Given the description of an element on the screen output the (x, y) to click on. 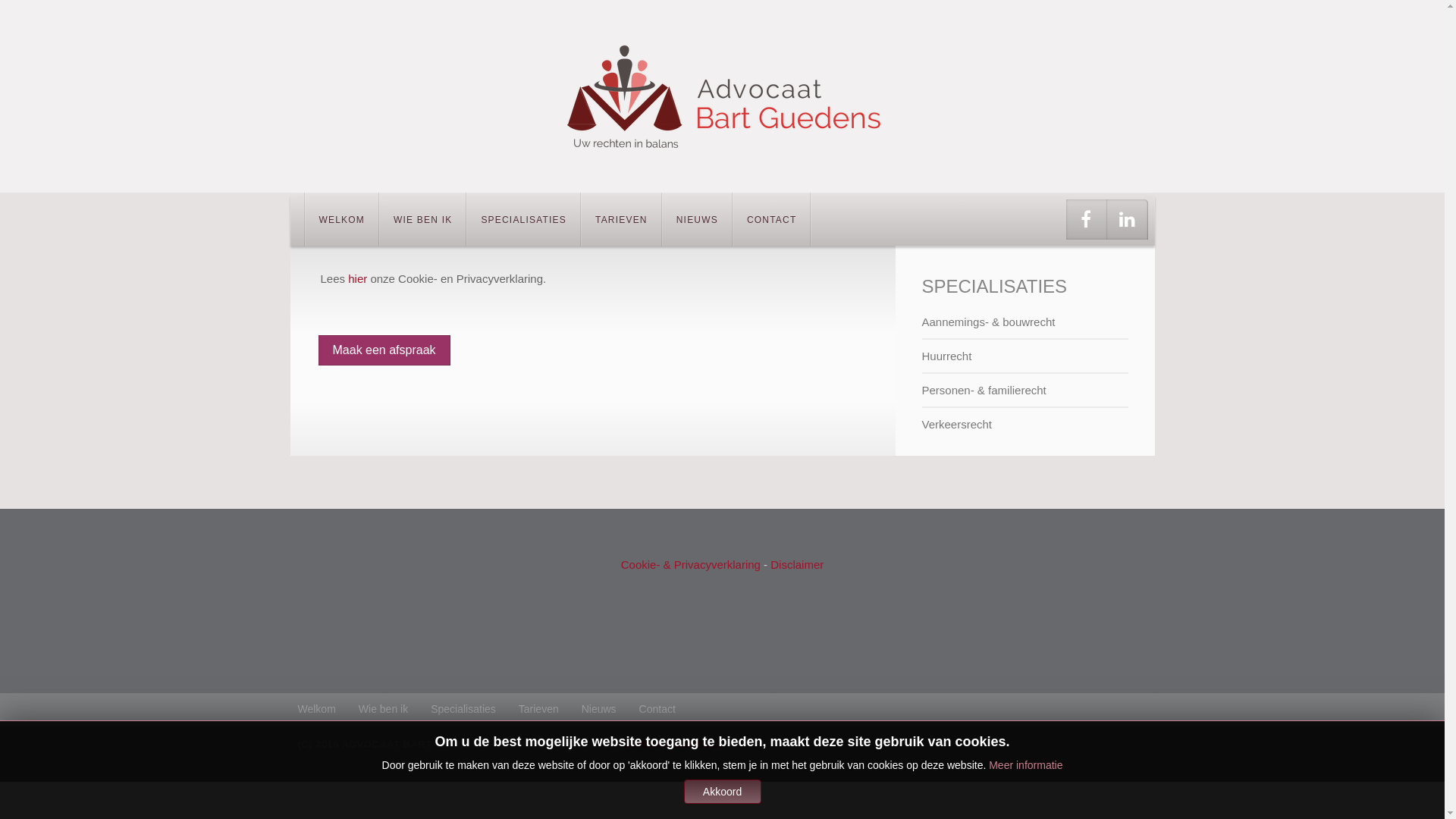
SPECIALISATIES Element type: text (523, 219)
Specialisaties Element type: text (474, 708)
Facebook Element type: hover (1086, 219)
WELKOM Element type: text (341, 219)
hier Element type: text (359, 278)
Welkom Element type: text (327, 708)
LinkedIn Element type: hover (1127, 219)
Aannemings- & bouwrecht Element type: text (1025, 321)
Cookie- & Privacyverklaring Element type: text (690, 564)
Wie ben ik Element type: text (394, 708)
NIEUWS Element type: text (696, 219)
Meer informatie Element type: text (1025, 765)
Nieuws Element type: text (610, 708)
Huurrecht Element type: text (1025, 355)
Verkeersrecht Element type: text (1025, 423)
CONTACT Element type: text (771, 219)
CAMBIAR CONSULT Element type: text (671, 743)
TARIEVEN Element type: text (621, 219)
Disclaimer Element type: text (796, 564)
Maak een afspraak Element type: text (384, 350)
WIE BEN IK Element type: text (422, 219)
Personen- & familierecht Element type: text (1025, 389)
Tarieven Element type: text (549, 708)
Contact Element type: text (668, 708)
